Given the description of an element on the screen output the (x, y) to click on. 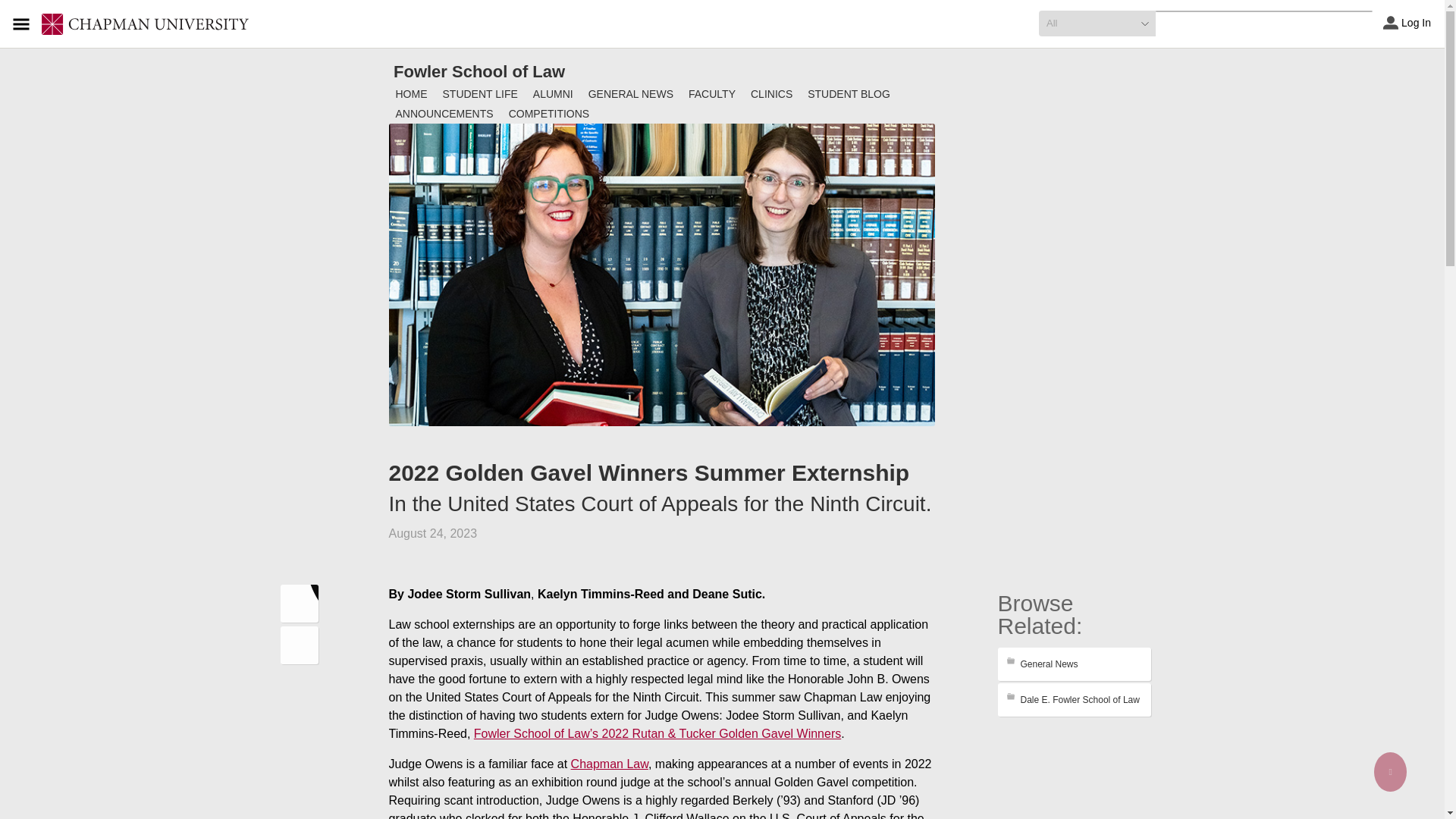
Dale E. Fowler School of Law (1074, 699)
STUDENT LIFE (480, 94)
COMPETITIONS (548, 113)
Chapman University Website Home Page (145, 24)
Chapman Law (608, 763)
ANNOUNCEMENTS (444, 113)
ALUMNI (552, 94)
Fowler School of Law (478, 71)
GENERAL NEWS (630, 94)
General News (1074, 663)
HOME (411, 94)
FACULTY (711, 94)
CLINICS (770, 94)
STUDENT BLOG (848, 94)
